Given the description of an element on the screen output the (x, y) to click on. 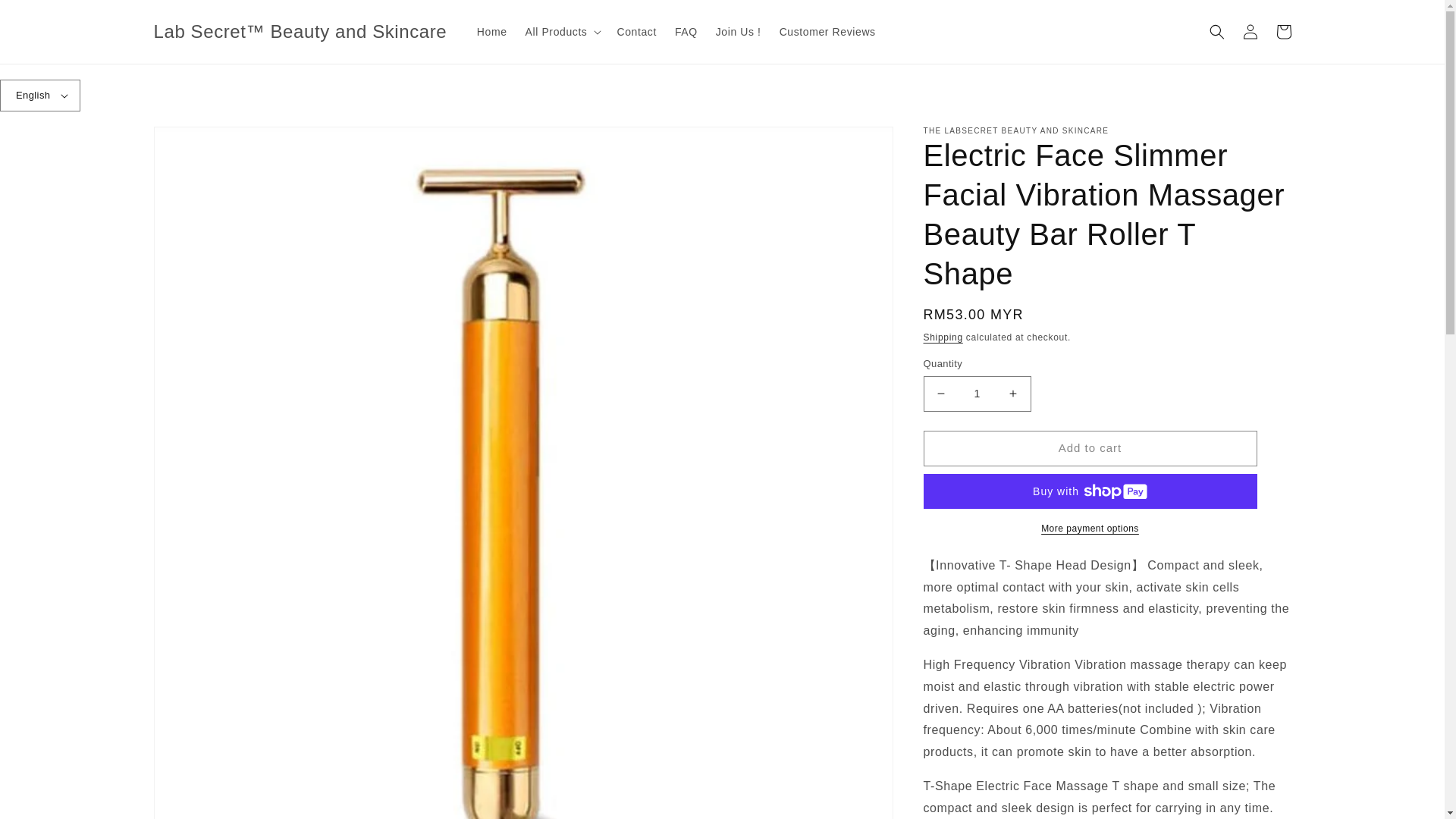
Log in (1249, 31)
Cart (1283, 31)
1 (976, 393)
FAQ (685, 31)
Home (491, 31)
Contact (636, 31)
English (40, 95)
Join Us ! (738, 31)
Skip to content (45, 17)
Shipping (942, 337)
Skip to product information (199, 143)
Customer Reviews (827, 31)
